Given the description of an element on the screen output the (x, y) to click on. 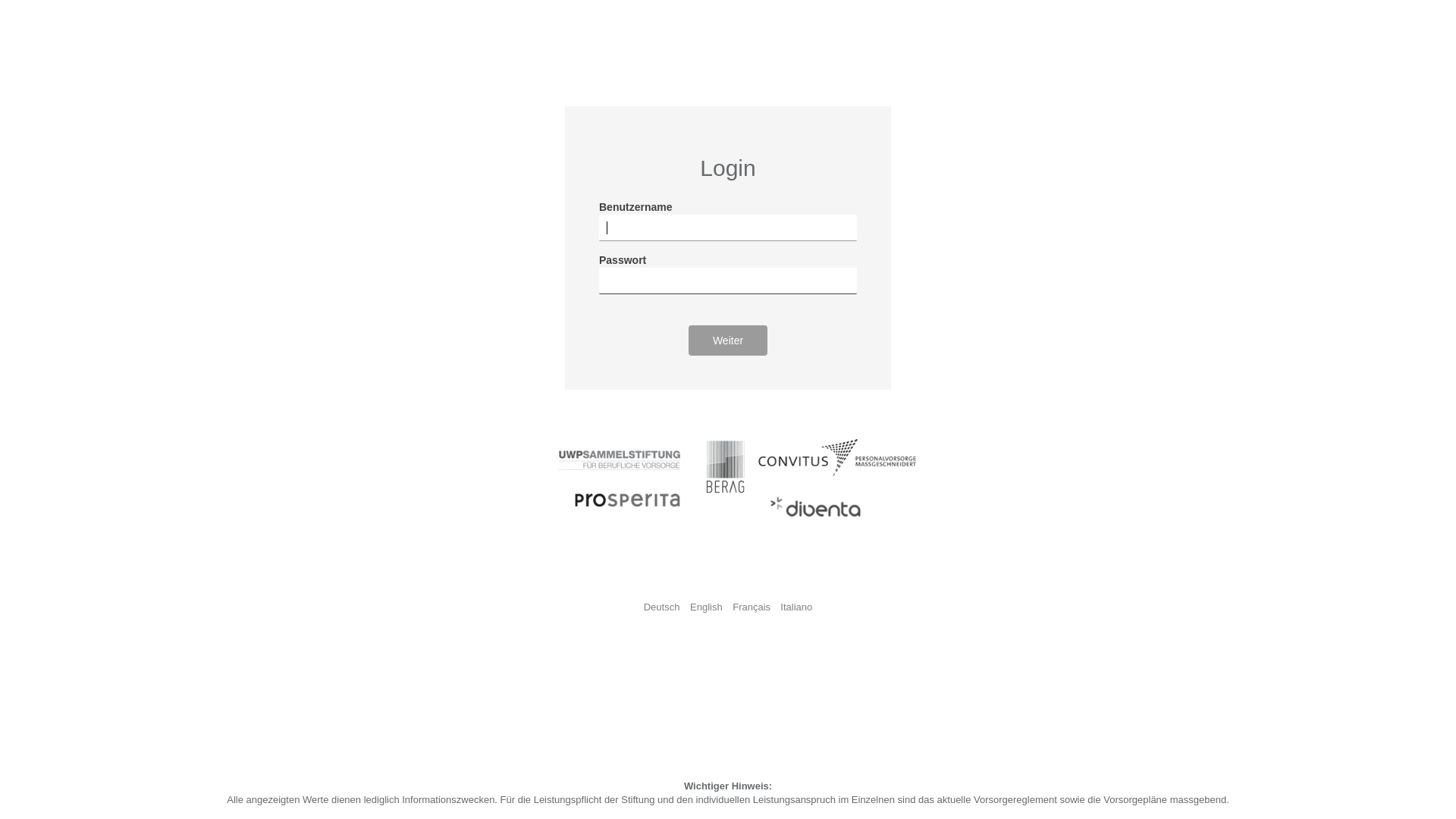
Weiter Element type: text (727, 340)
